Given the description of an element on the screen output the (x, y) to click on. 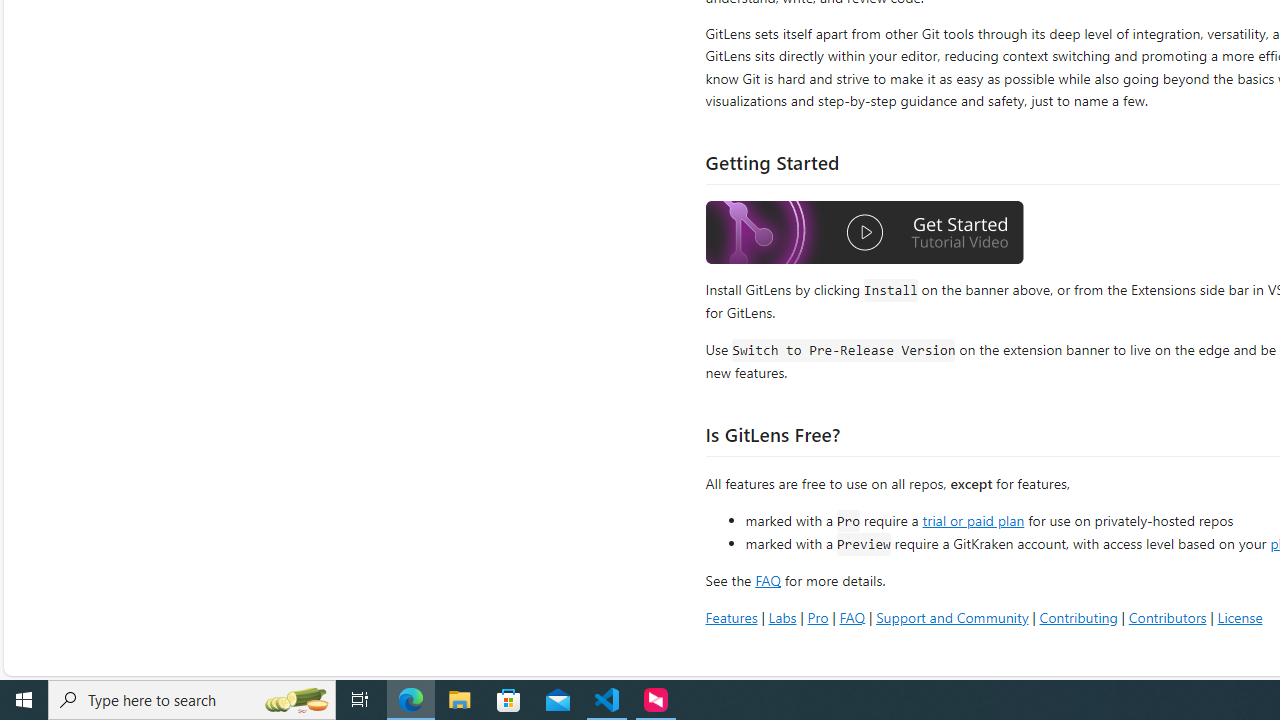
Support and Community (952, 616)
FAQ (852, 616)
Watch the GitLens Getting Started video (865, 235)
Pro (817, 616)
Contributors (1167, 616)
Watch the GitLens Getting Started video (865, 232)
Contributing (1078, 616)
Labs (782, 616)
trial or paid plan (973, 519)
License (1240, 616)
Features (731, 616)
